Given the description of an element on the screen output the (x, y) to click on. 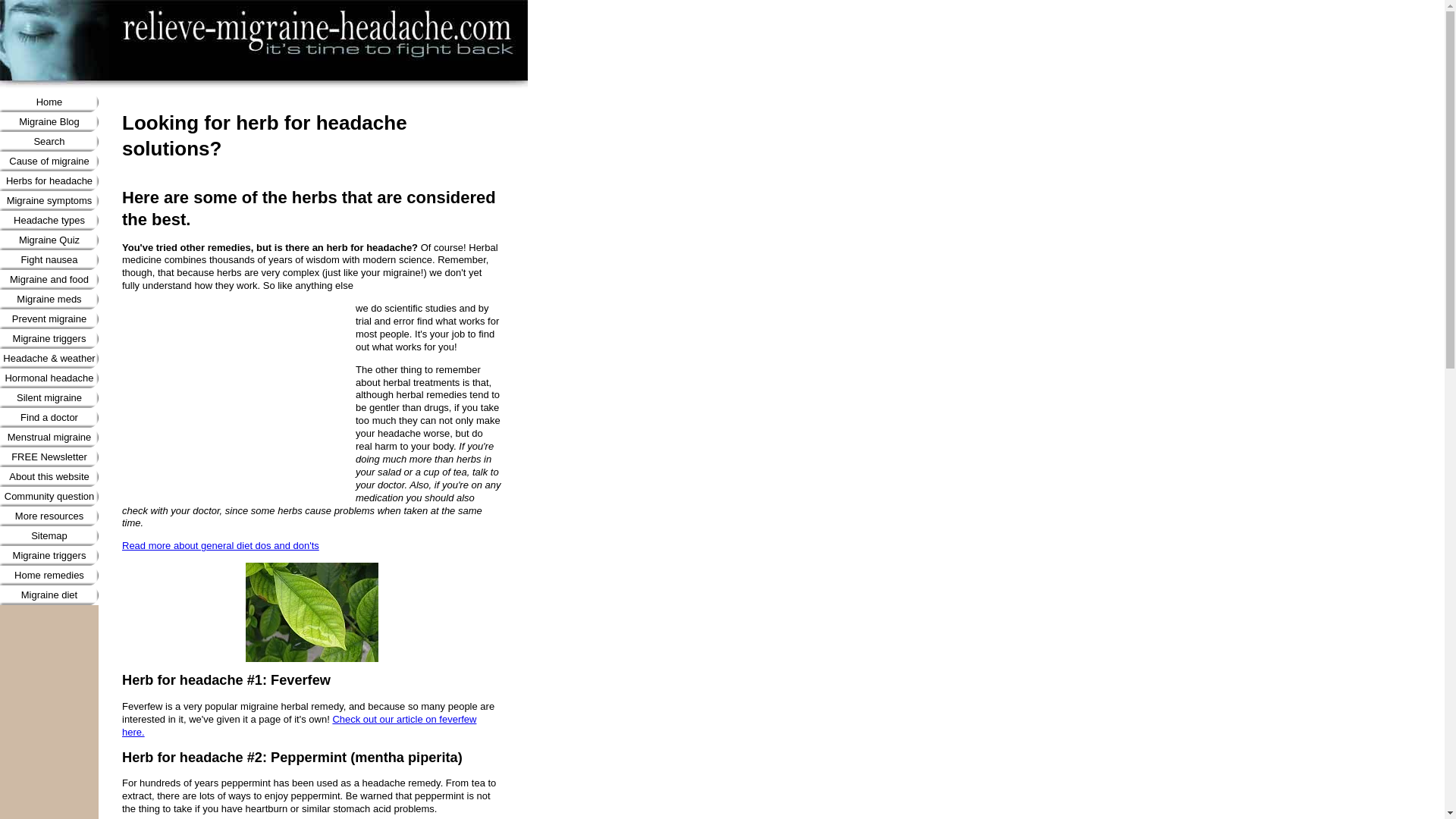
Herbs for headache (49, 180)
FREE Newsletter (49, 456)
About this website (49, 476)
Cause of migraine (49, 161)
Migraine triggers (49, 555)
Community question (49, 496)
Migraine symptoms (49, 200)
Home (49, 102)
Prevent migraine (49, 319)
Migraine Quiz (49, 240)
Migraine triggers (49, 338)
Migraine meds (49, 299)
Migraine Blog (49, 121)
Check out our article on feverfew here. (299, 725)
Fight nausea (49, 260)
